Given the description of an element on the screen output the (x, y) to click on. 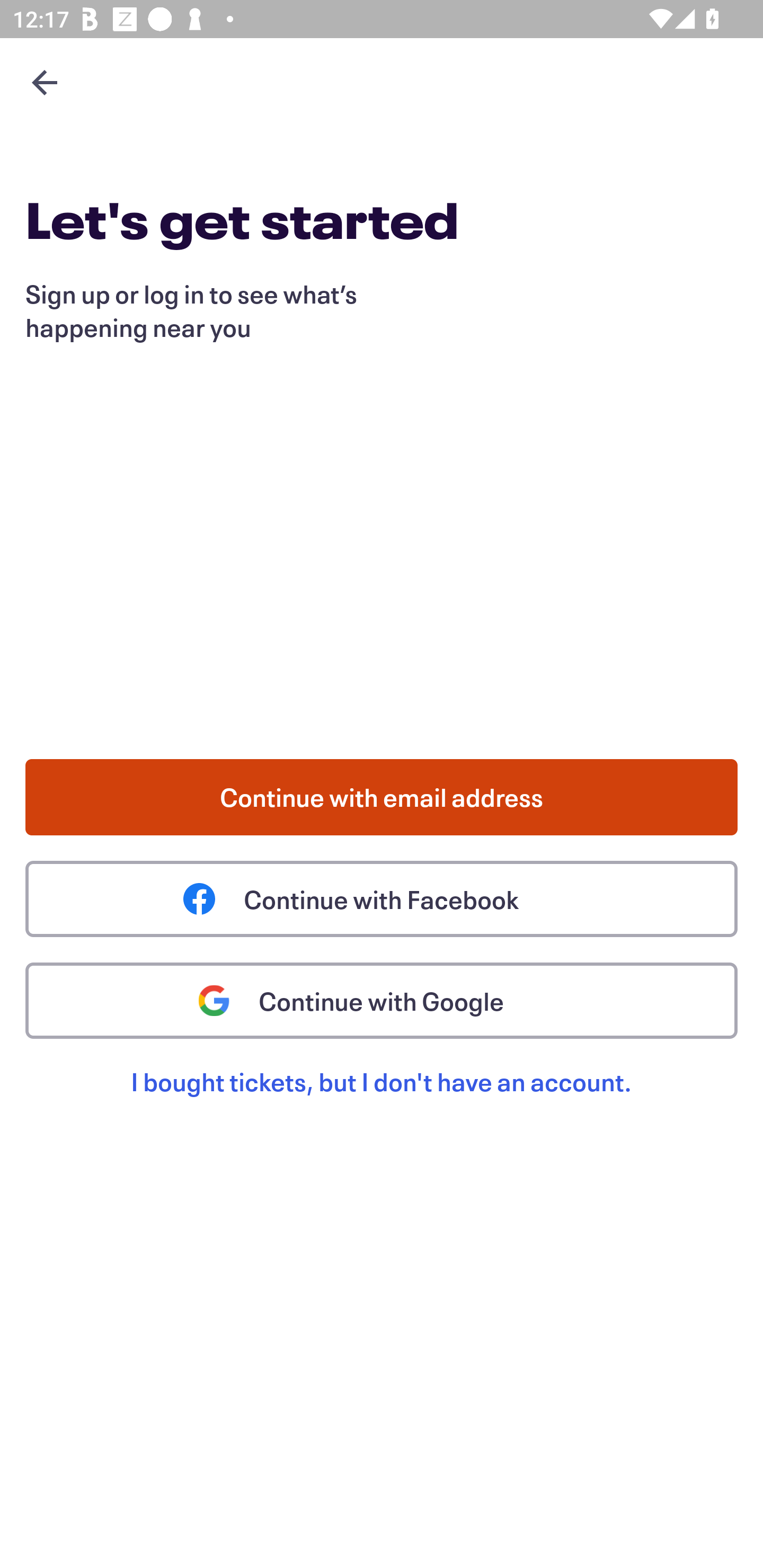
Navigate up (44, 82)
Continue with email address (381, 796)
I bought tickets, but I don't have an account. (381, 1101)
